Given the description of an element on the screen output the (x, y) to click on. 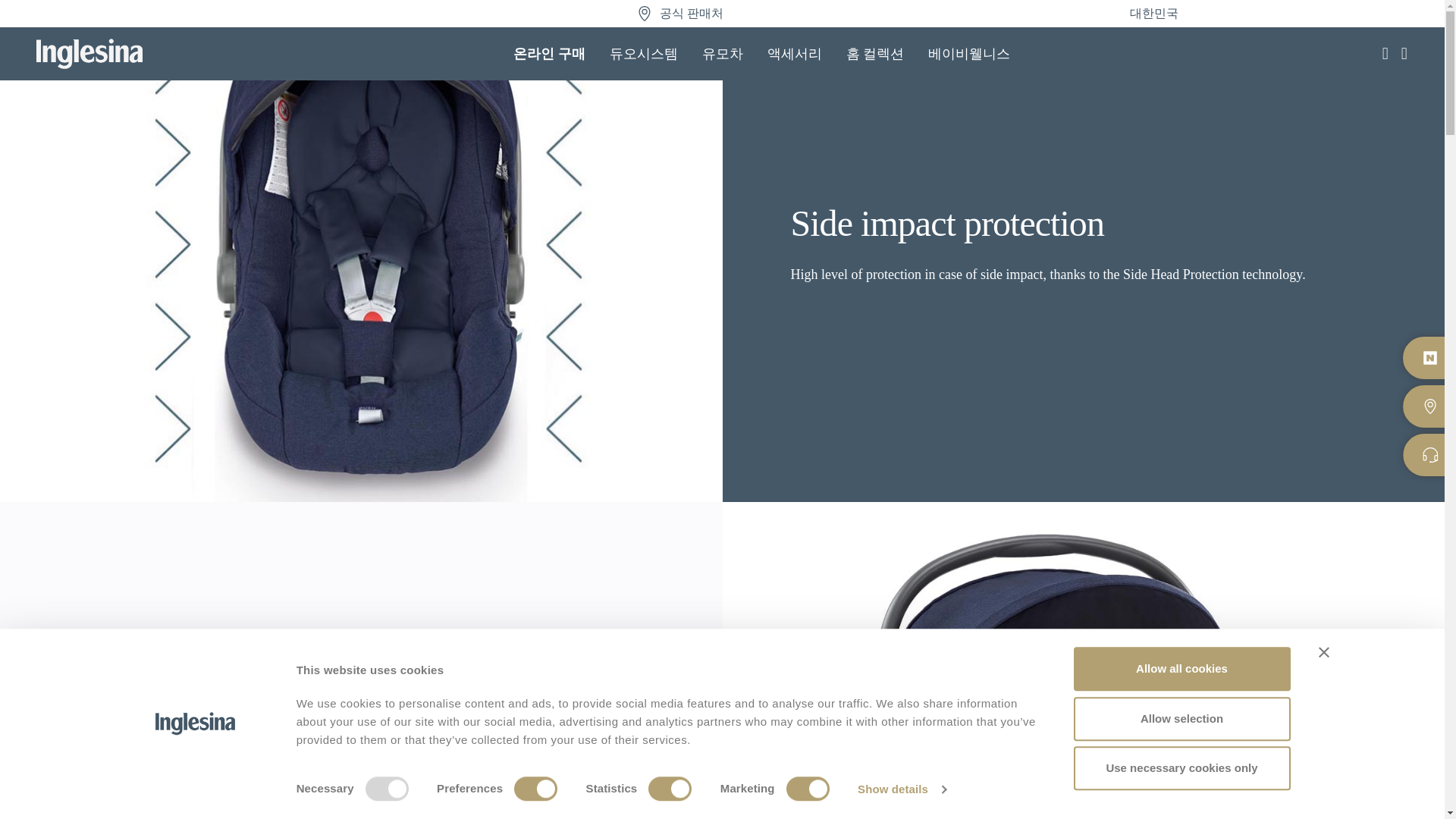
Allow all cookies (1182, 669)
Show details (900, 789)
Allow selection (1182, 718)
Use necessary cookies only (1182, 768)
